Given the description of an element on the screen output the (x, y) to click on. 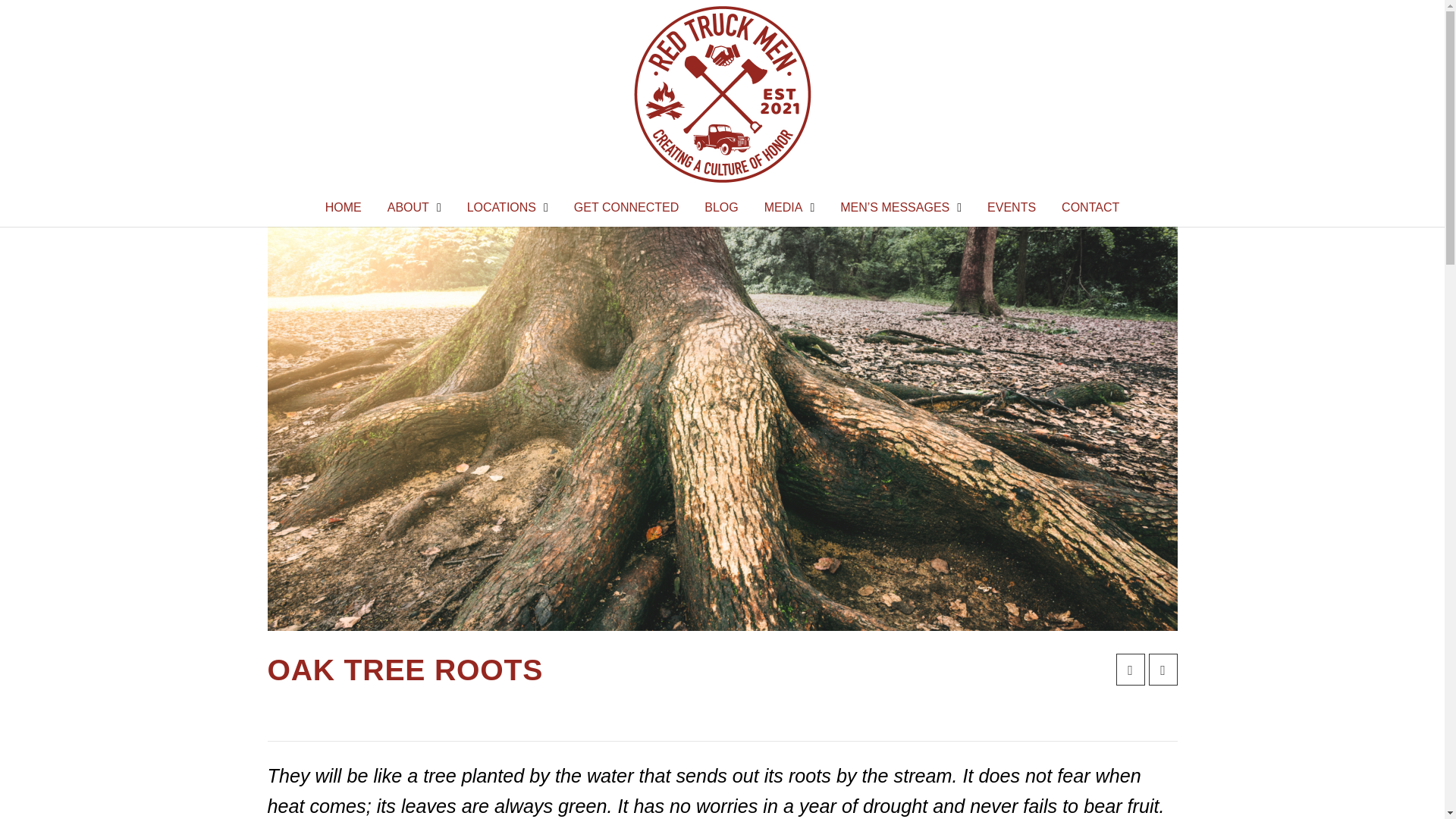
LOCATIONS (507, 207)
ABOUT (414, 207)
HOME (343, 207)
GET CONNECTED (625, 207)
BLOG (721, 207)
MEDIA (789, 207)
